Given the description of an element on the screen output the (x, y) to click on. 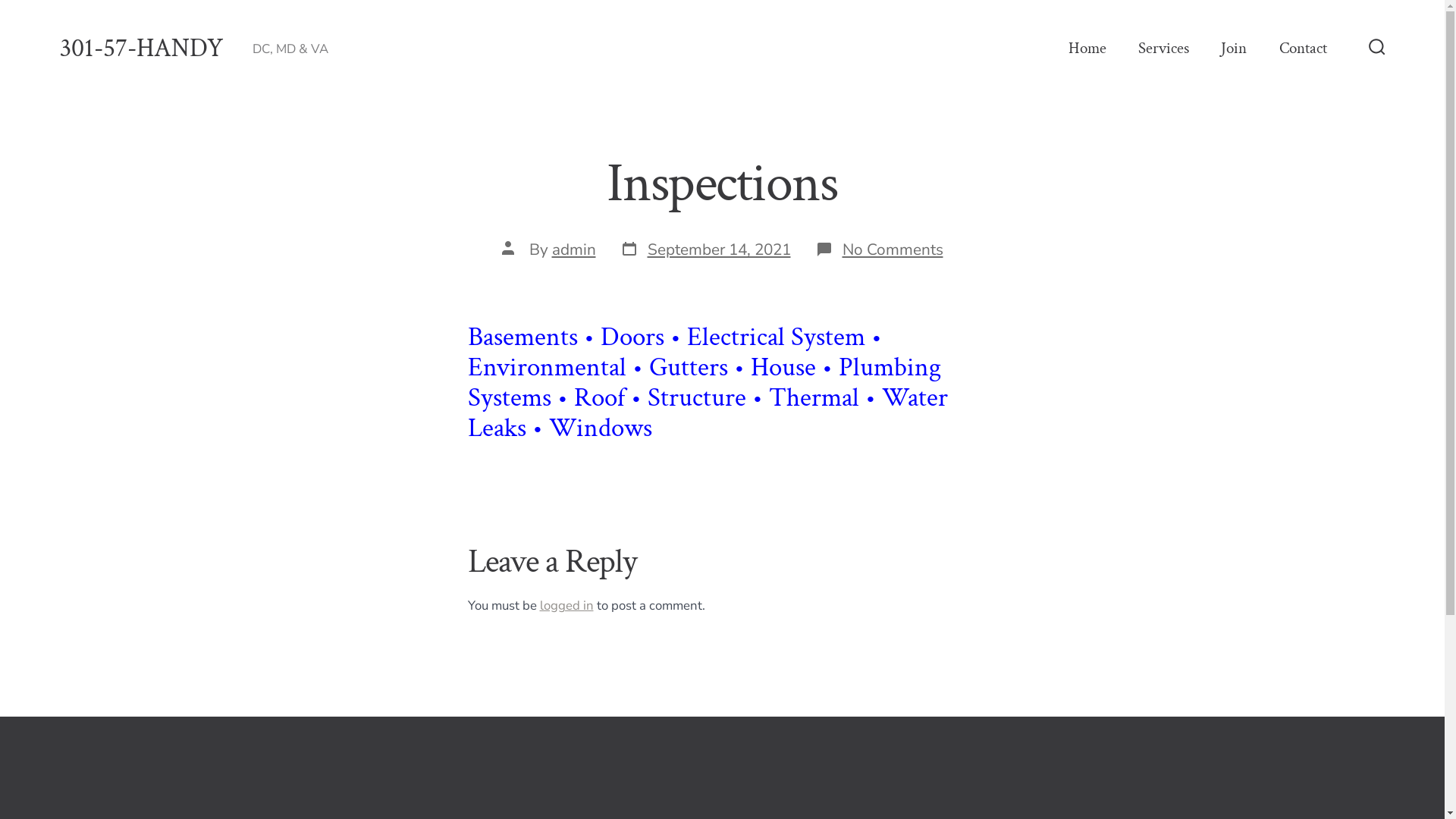
Search Toggle Element type: text (1376, 48)
admin Element type: text (574, 249)
Home Element type: text (1087, 48)
Post date
September 14, 2021 Element type: text (705, 249)
Contact Element type: text (1303, 48)
Services Element type: text (1163, 48)
No Comments
on Inspections Element type: text (891, 249)
301-57-HANDY Element type: text (141, 48)
Join Element type: text (1233, 48)
logged in Element type: text (566, 605)
